Given the description of an element on the screen output the (x, y) to click on. 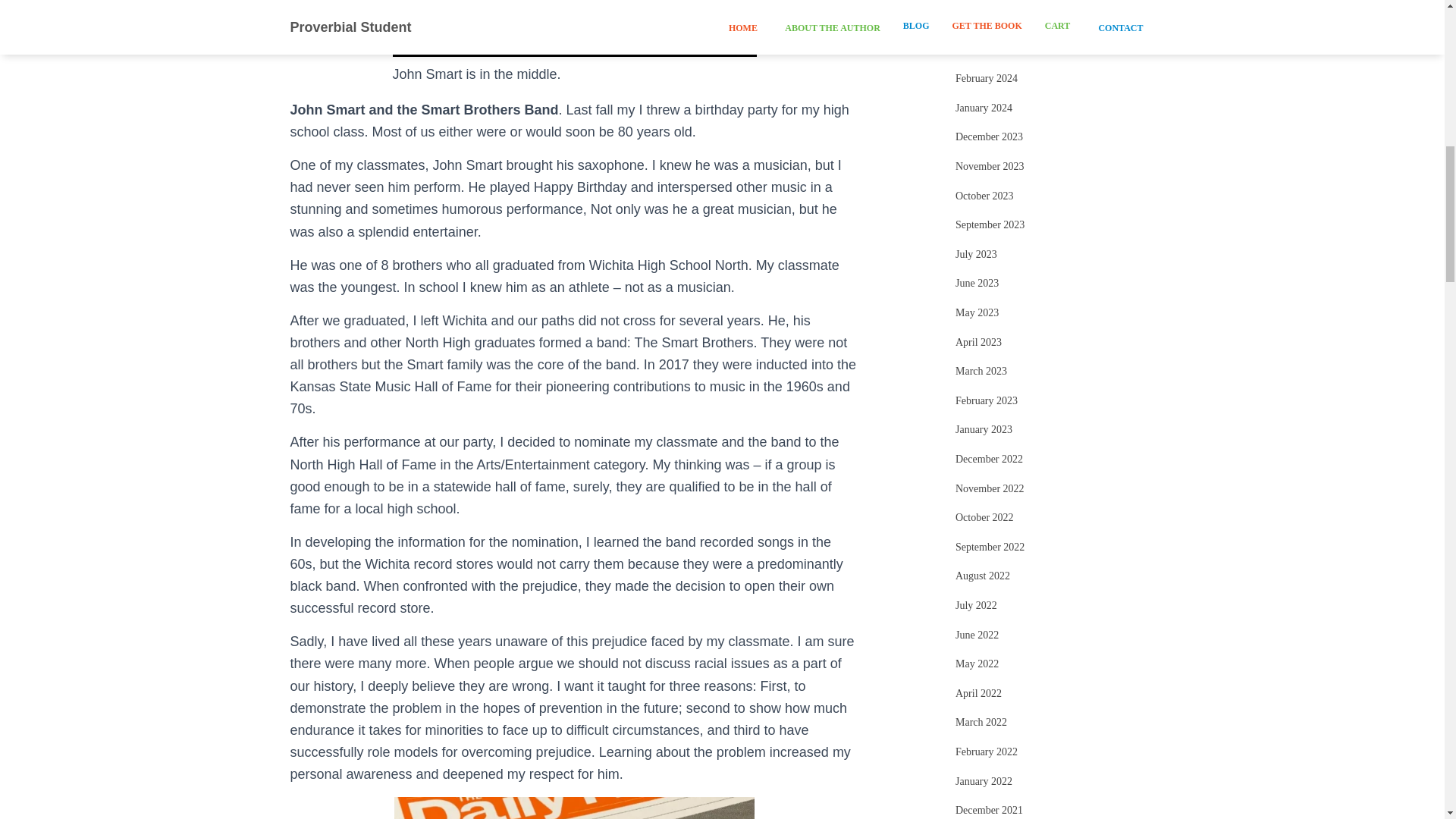
February 2024 (986, 78)
April 2024 (978, 19)
September 2023 (990, 224)
July 2023 (976, 254)
November 2023 (990, 165)
October 2023 (984, 195)
December 2023 (989, 136)
March 2024 (981, 49)
January 2024 (983, 107)
